Given the description of an element on the screen output the (x, y) to click on. 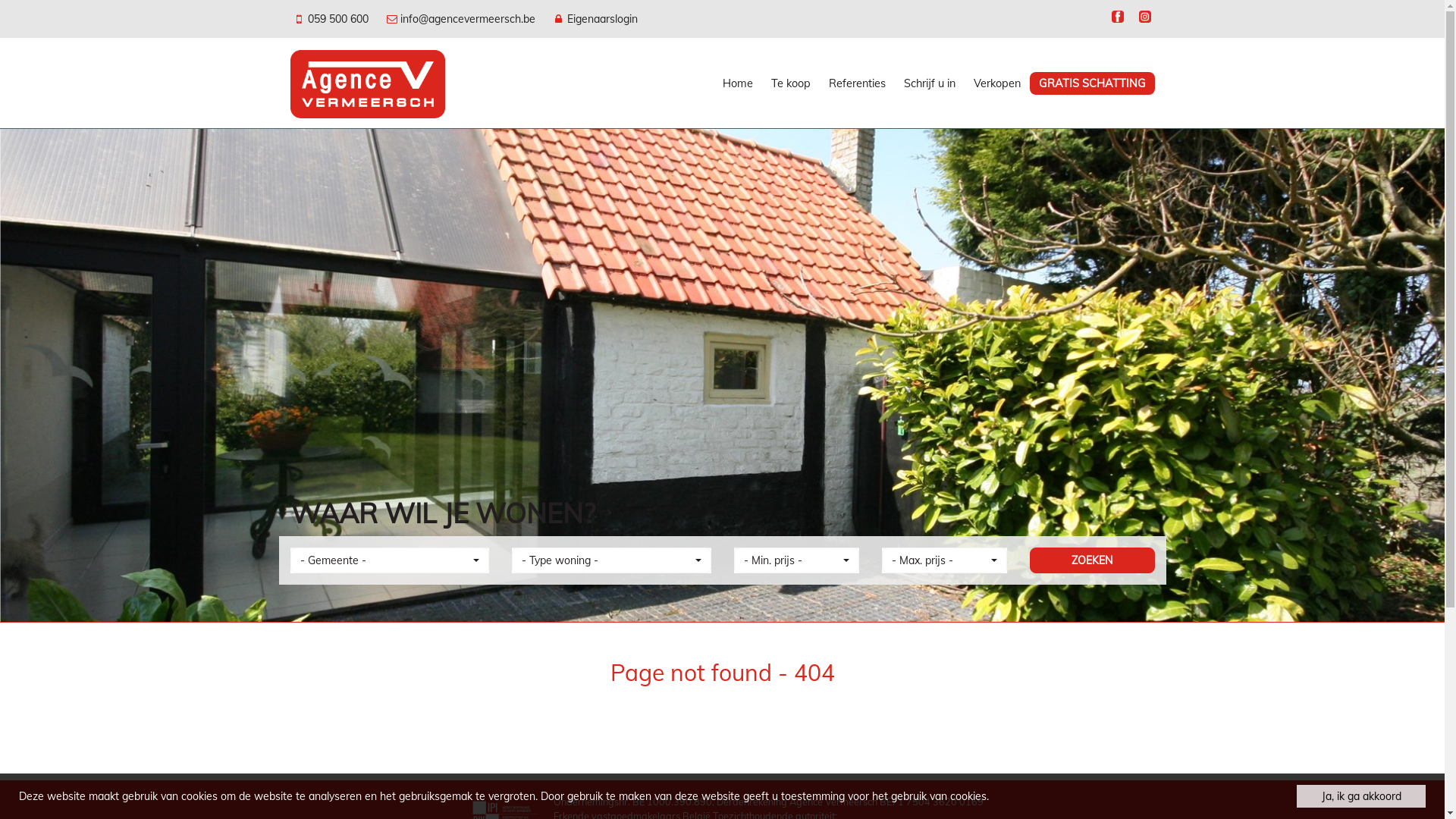
Eigenaarslogin Element type: text (594, 18)
info@agencevermeersch.be Element type: text (461, 18)
Te koop Element type: text (790, 83)
- Type woning -
  Element type: text (611, 560)
- Max. prijs -
  Element type: text (943, 560)
- Min. prijs -
  Element type: text (796, 560)
GRATIS SCHATTING Element type: text (1091, 83)
Agence Vermeersch Element type: hover (367, 82)
ZOEKEN Element type: text (1091, 560)
Schrijf u in Element type: text (929, 83)
Instagram Element type: hover (1144, 18)
Facebook Element type: hover (1116, 18)
Referenties Element type: text (856, 83)
- Gemeente -
  Element type: text (389, 560)
Home Element type: text (736, 83)
059 500 600 Element type: text (331, 18)
Verkopen Element type: text (996, 83)
